Given the description of an element on the screen output the (x, y) to click on. 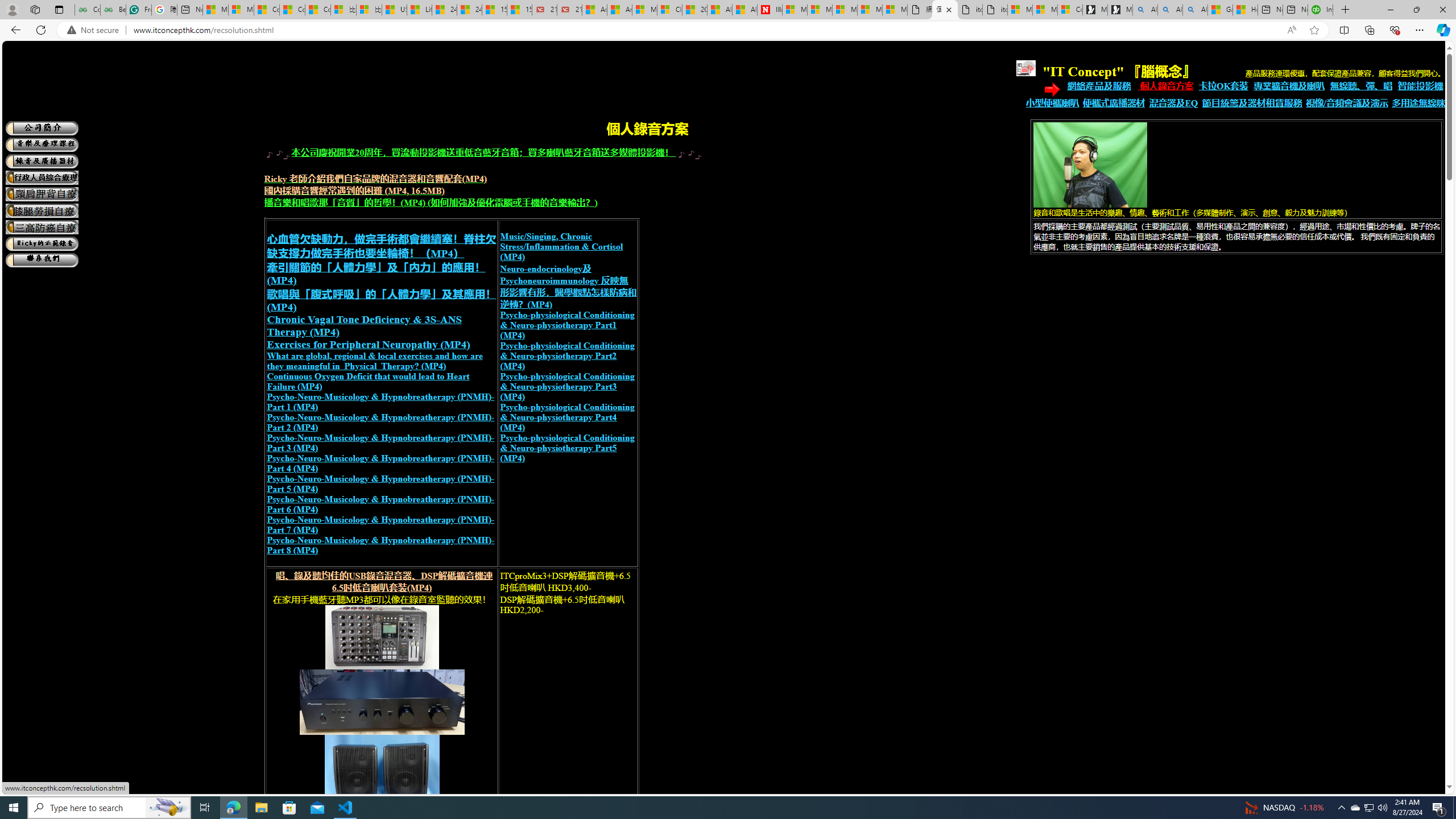
Intuit QuickBooks Online - Quickbooks (1320, 9)
Chronic Vagal Tone Deficiency & 3S-ANS Therapy (MP4) (364, 325)
Music/Singing, Chronic Stress/Inflammation & Cortisol (MP4) (561, 246)
